Given the description of an element on the screen output the (x, y) to click on. 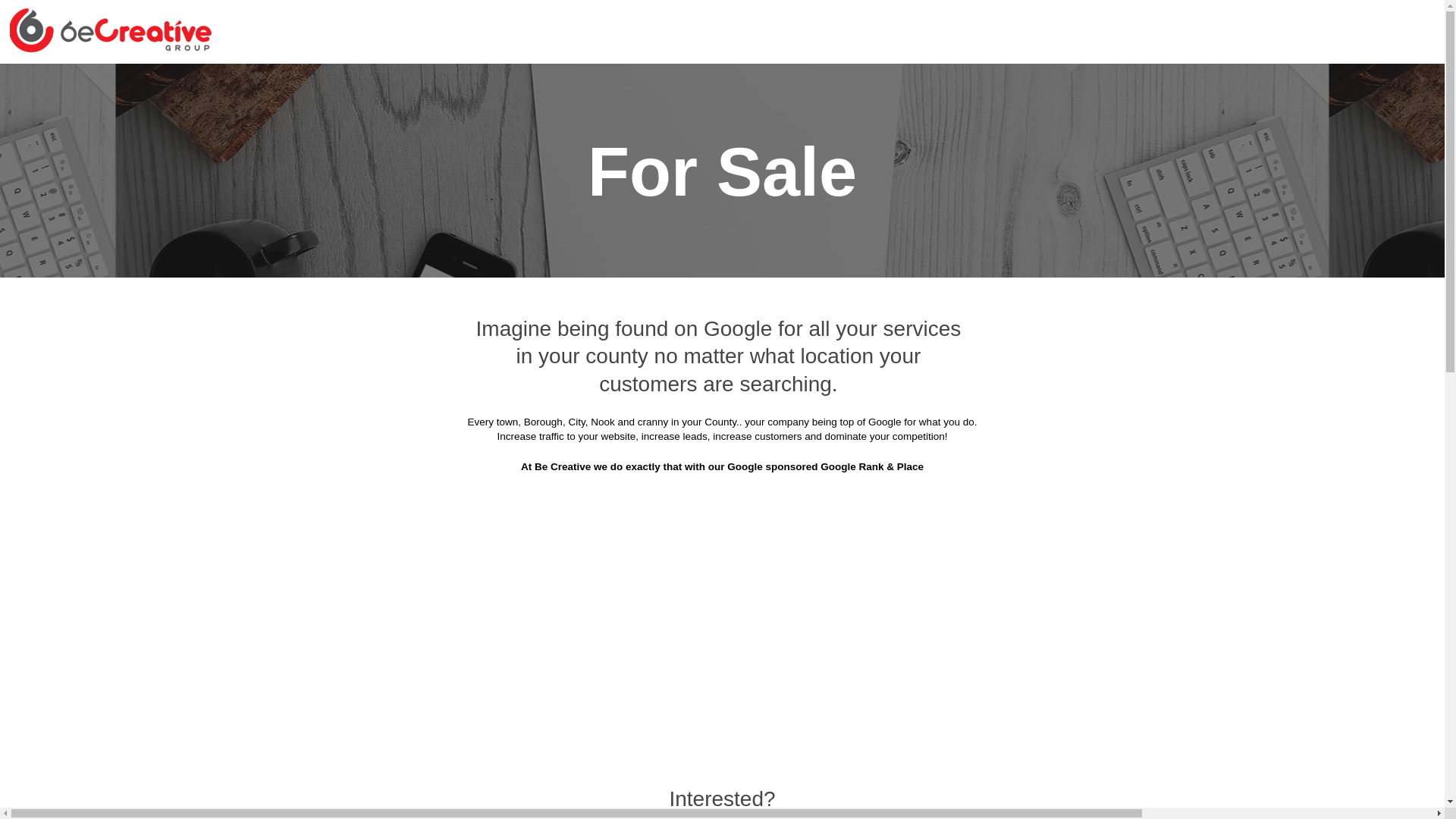
Aggregate Suppliers Fowey Cornwall (824, 309)
Aggregate Suppliers Kingsbridge Devon (1074, 383)
Aggregate Suppliers Camelford Cornwall (390, 234)
Aggregate Suppliers Brixham Devon (632, 158)
Aggregate Suppliers Chulmleigh Devon (850, 234)
Aggregate Suppliers Cranbrook Devon (1078, 234)
Aggregate Suppliers Falmouth Cornwall (600, 309)
Aggregate Suppliers Cornwall (488, 83)
Aggregate Suppliers Launceston Cornwall (632, 422)
Aggregate Suppliers Bodmin Cornwall (837, 121)
Aggregate Suppliers Devon (660, 83)
Aggregate Suppliers Camborne Cornwall (1072, 196)
Aggregate Suppliers Exmouth Devon (1083, 271)
Aggregate Suppliers Bideford Devon (617, 121)
Aggregate Suppliers Holsworthy Devon (1076, 346)
